Given the description of an element on the screen output the (x, y) to click on. 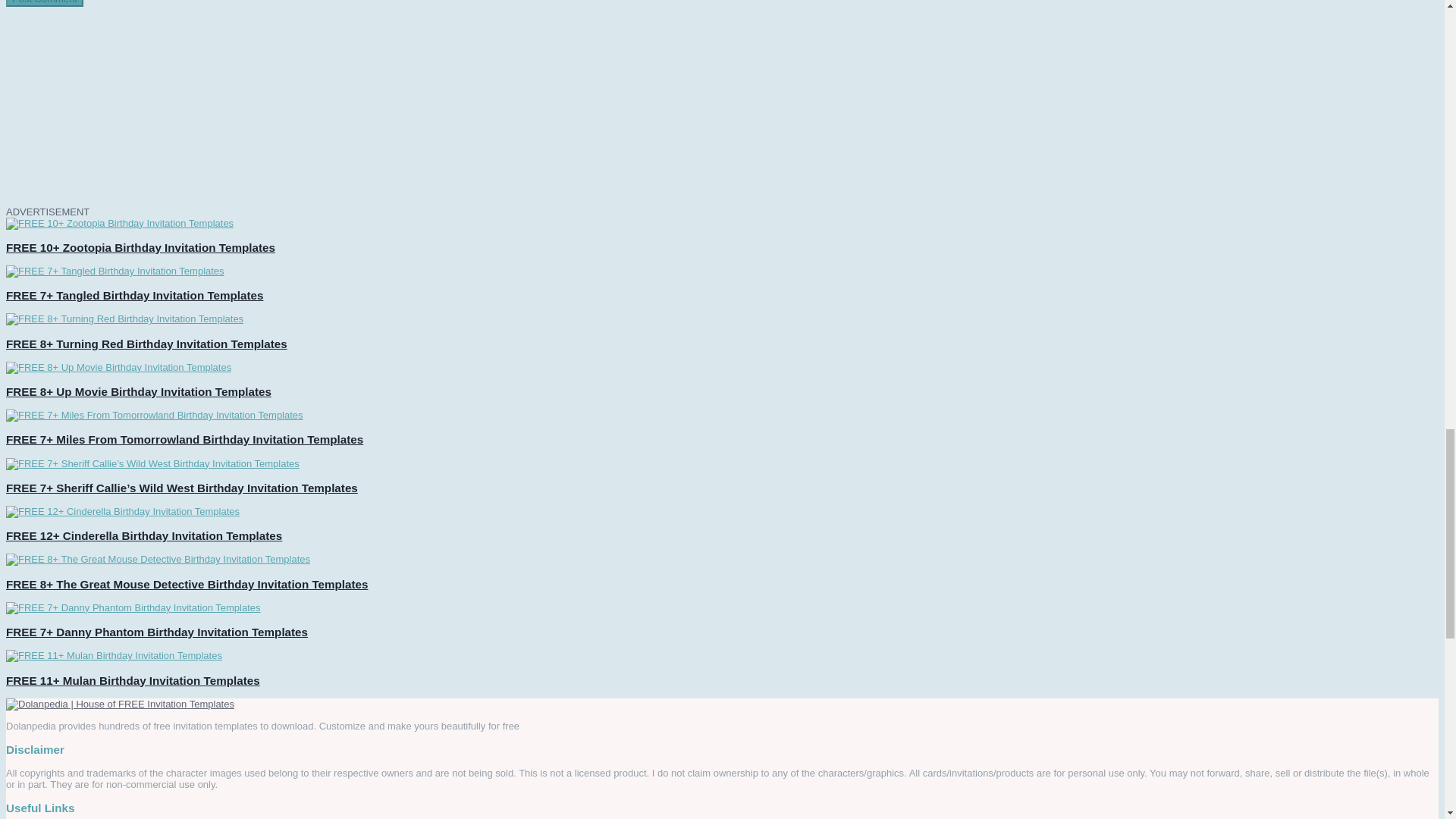
Post Comment (43, 3)
Post Comment (43, 3)
